Given the description of an element on the screen output the (x, y) to click on. 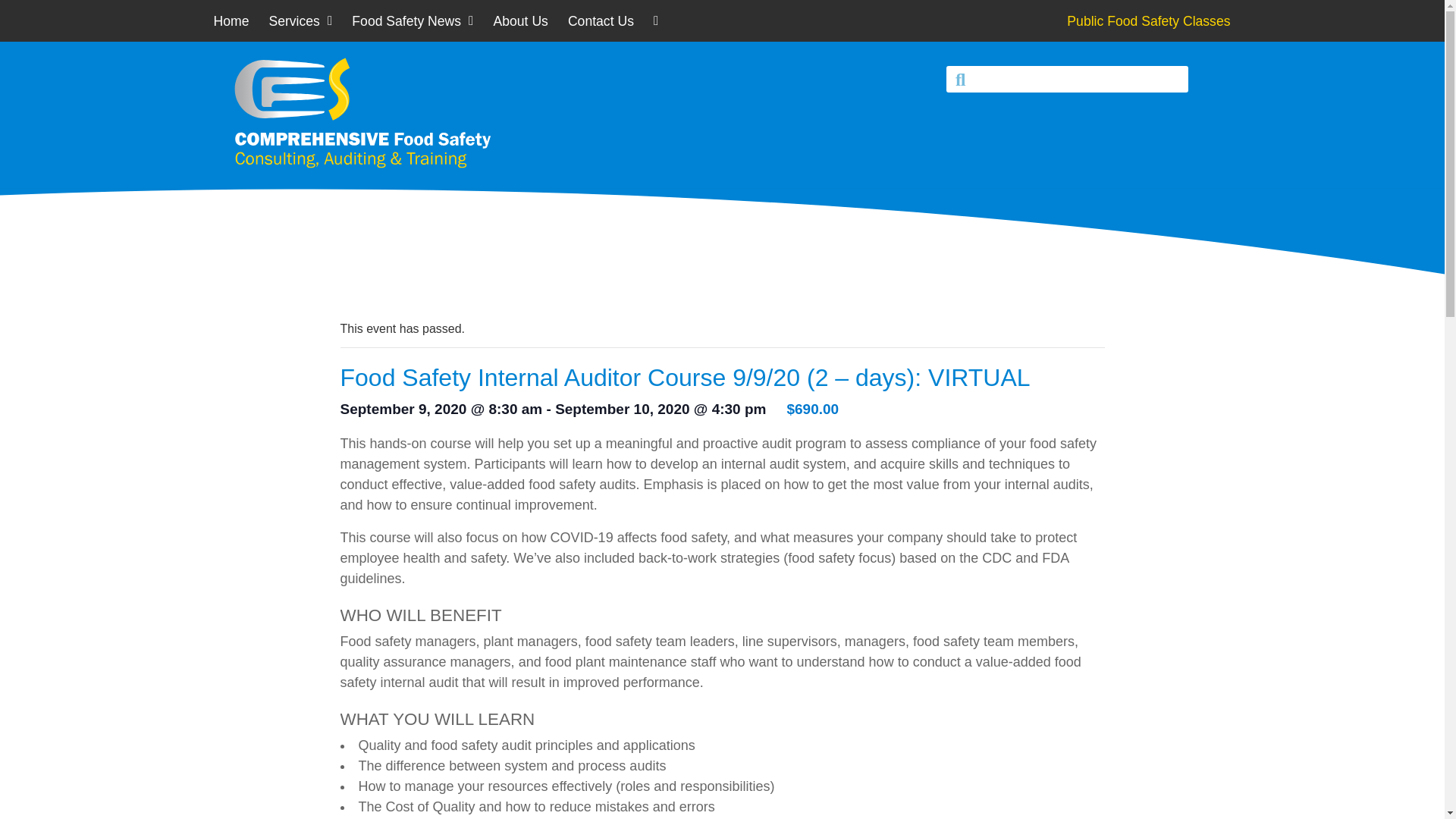
Public Food Safety Classes (1148, 20)
Contact Us (601, 20)
About Us (520, 20)
Home (232, 20)
Food Safety News (411, 20)
Services (299, 20)
